Given the description of an element on the screen output the (x, y) to click on. 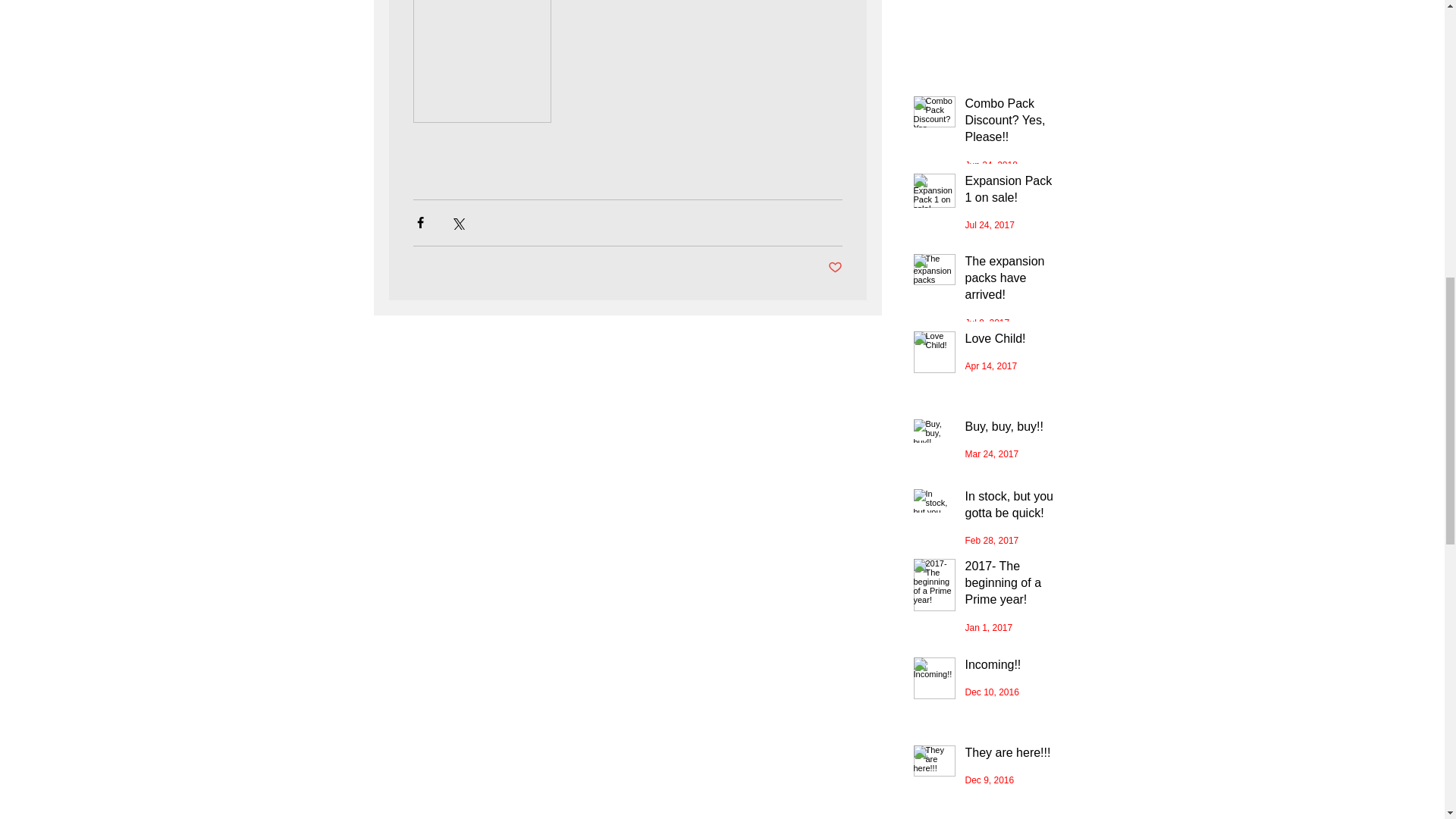
Love Child! (1012, 341)
The expansion packs have arrived! (1012, 281)
Jul 9, 2017 (986, 322)
Expansion Pack 1 on sale! (1012, 192)
Incoming!! (1012, 667)
2017- The beginning of a Prime year! (1012, 586)
Combo Pack Discount? Yes, Please!! (1012, 123)
In stock, but you gotta be quick! (1012, 508)
Jul 24, 2017 (988, 225)
Jun 24, 2018 (989, 164)
